Given the description of an element on the screen output the (x, y) to click on. 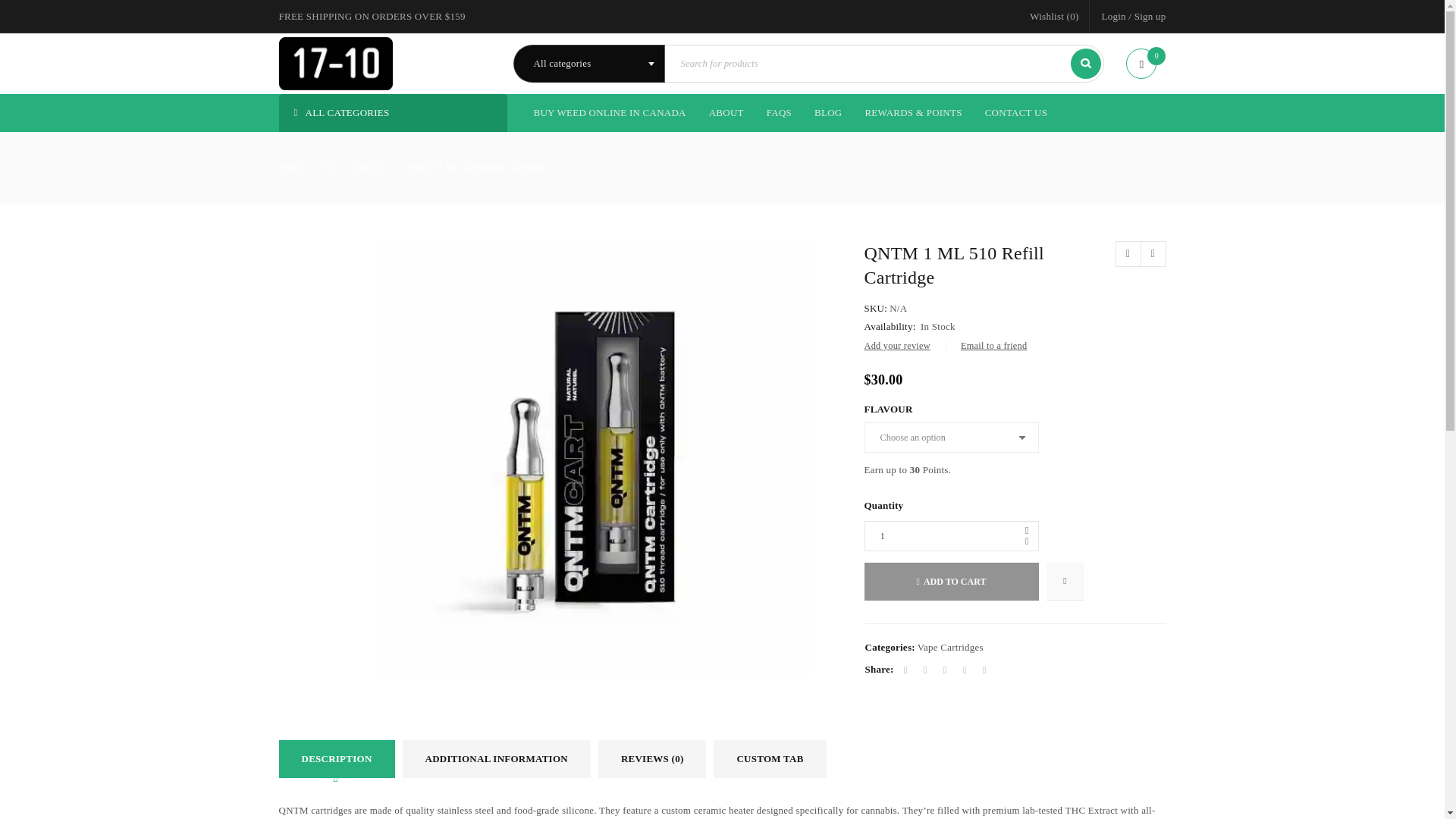
All categories (588, 63)
ABOUT (726, 112)
0 (1145, 64)
Home (291, 167)
Sign up (1150, 16)
Register (802, 511)
Search (1085, 63)
CONTACT US (1015, 112)
Search (1085, 63)
- (1026, 540)
